Given the description of an element on the screen output the (x, y) to click on. 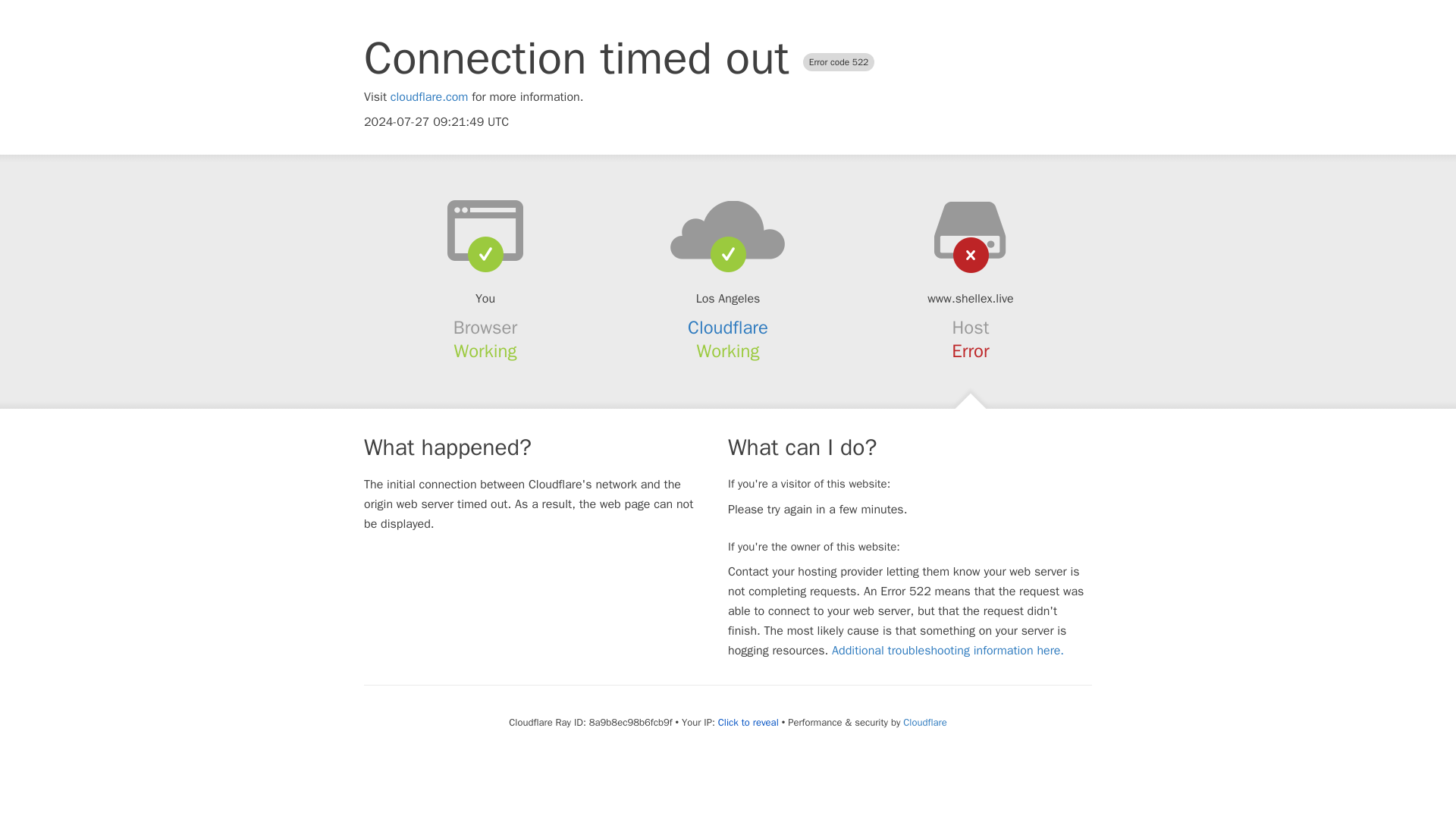
Click to reveal (747, 722)
Additional troubleshooting information here. (947, 650)
Cloudflare (727, 327)
Cloudflare (924, 721)
cloudflare.com (429, 96)
